Given the description of an element on the screen output the (x, y) to click on. 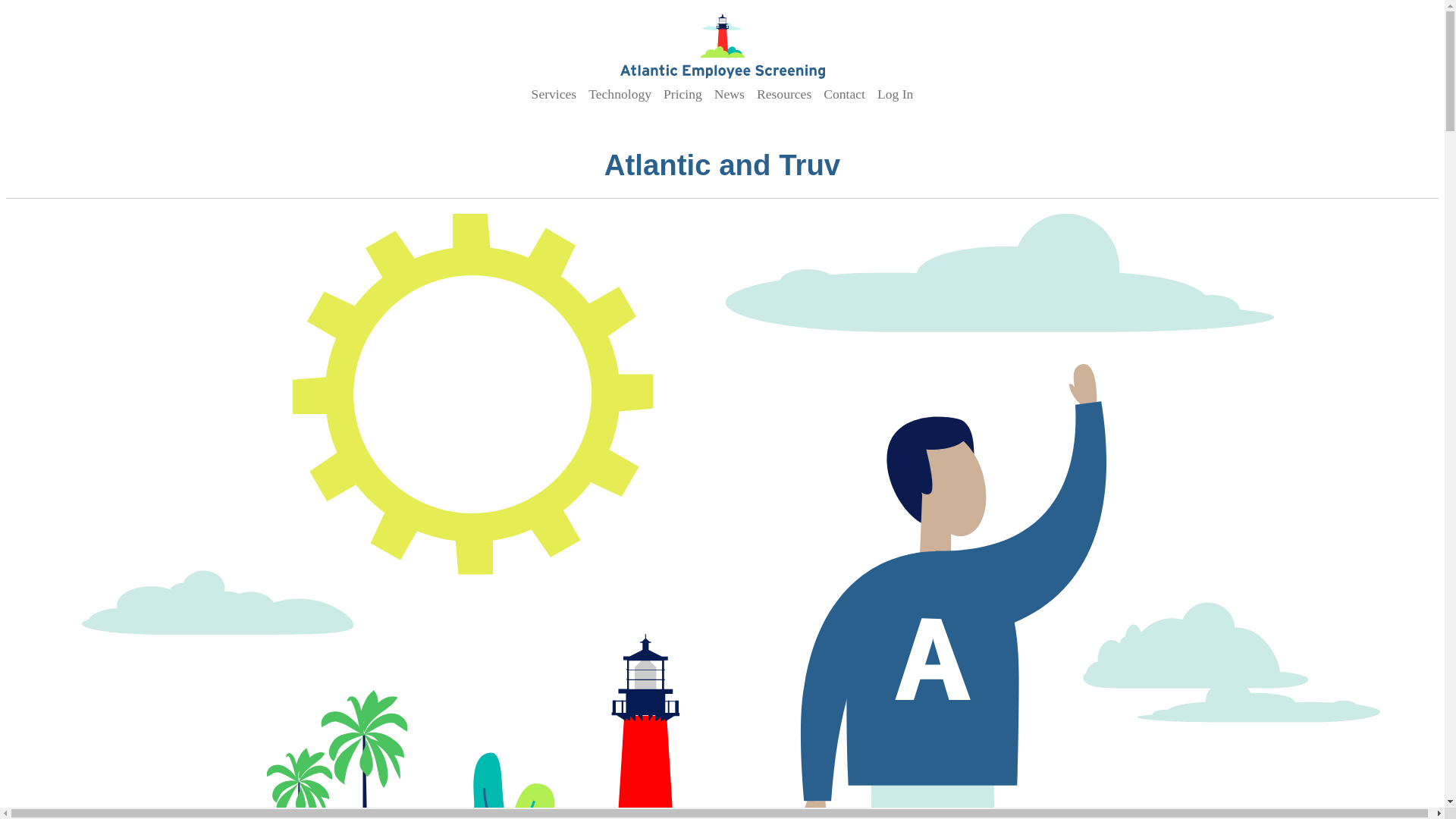
Resources (783, 93)
News (729, 93)
Technology (620, 93)
Pricing (682, 93)
Services (554, 93)
